Given the description of an element on the screen output the (x, y) to click on. 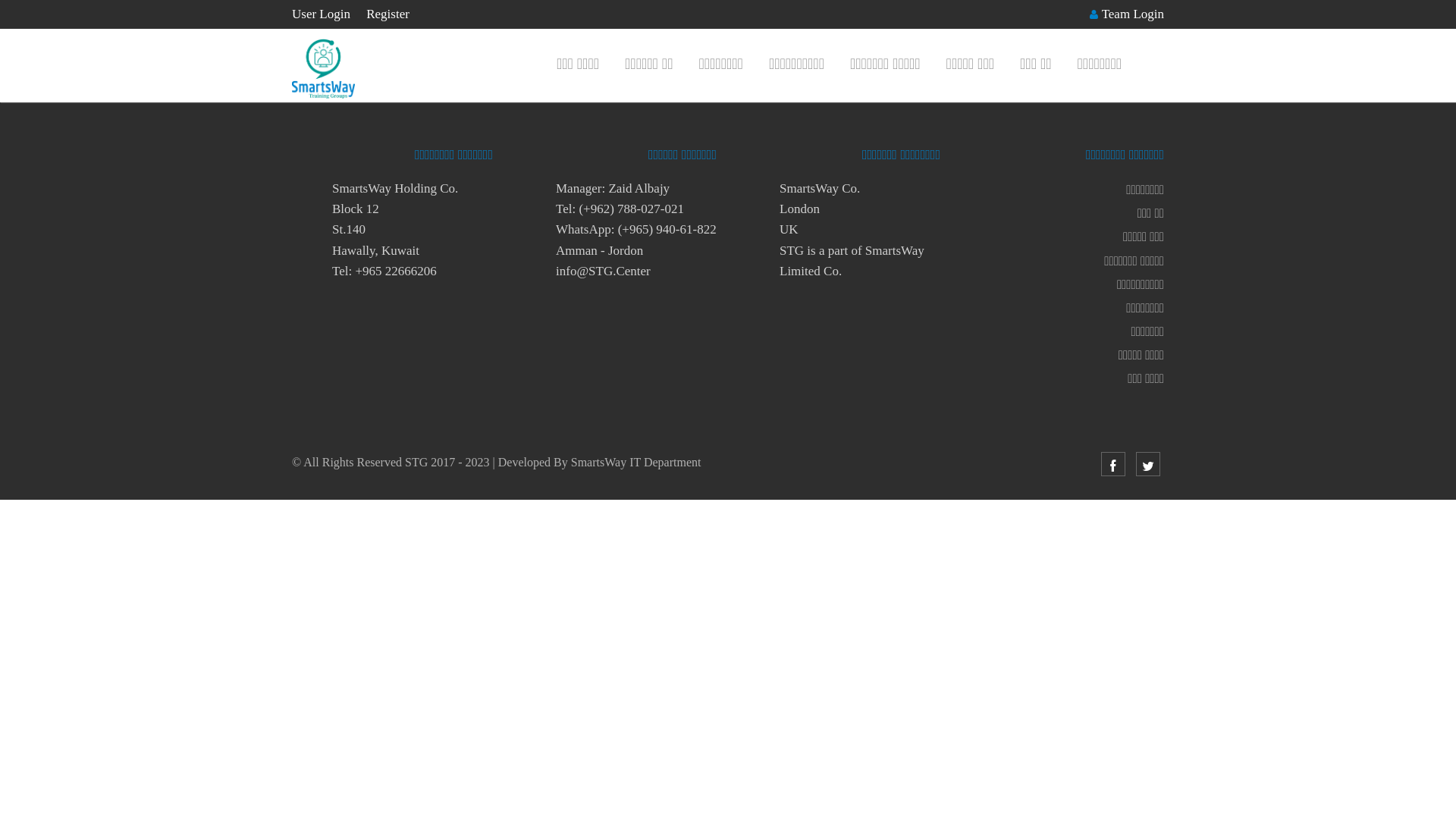
Register Element type: text (387, 13)
Twitter Element type: hover (1148, 466)
User Login Element type: text (320, 13)
Team Login Element type: text (1132, 14)
Facebook Element type: hover (1112, 466)
